Given the description of an element on the screen output the (x, y) to click on. 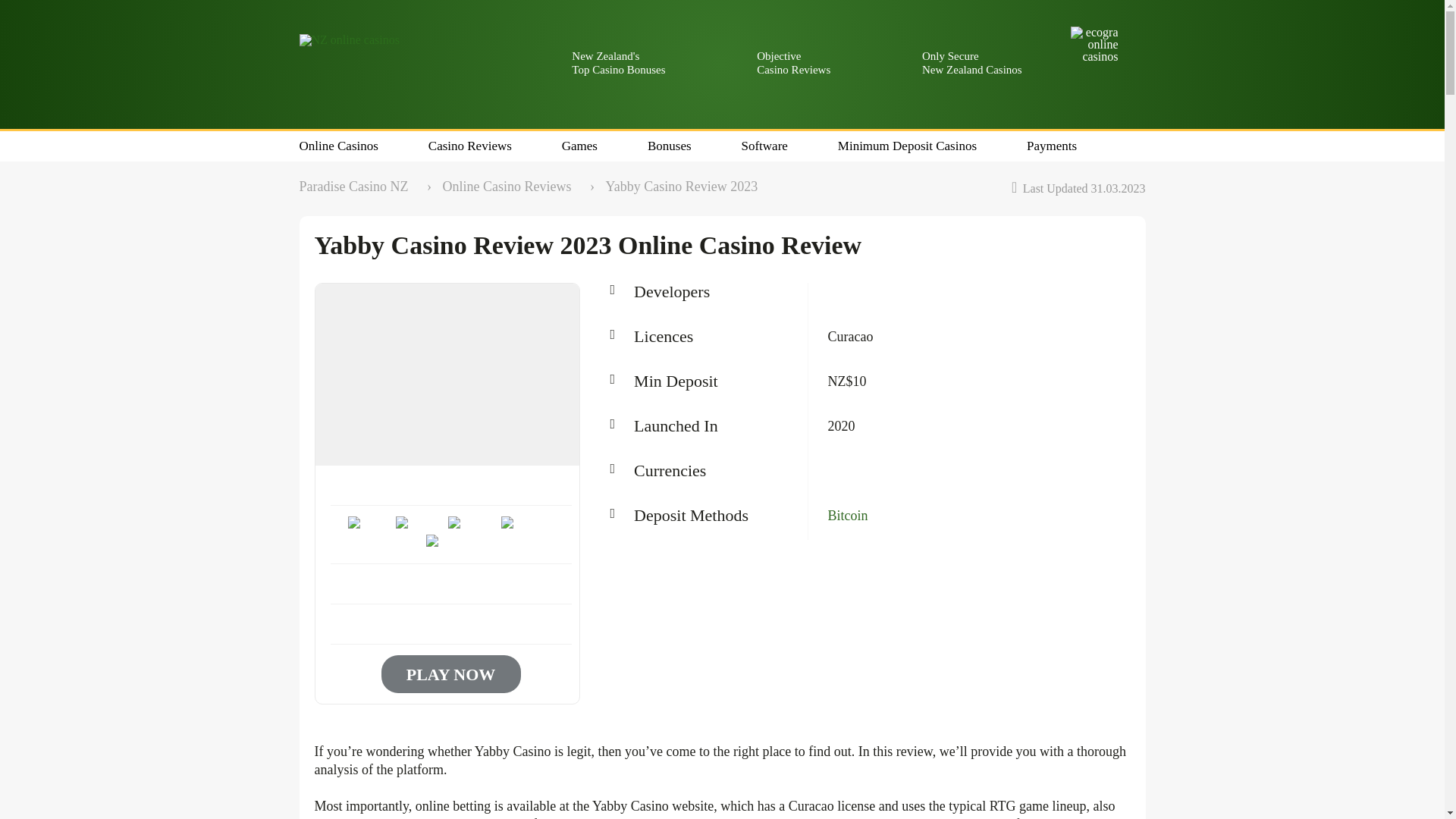
1 Star (370, 525)
Casino Reviews (470, 148)
Bonuses (669, 148)
5 Stars (451, 543)
4 Stars (525, 525)
Online Casinos (337, 148)
Games (579, 148)
3 Stars (472, 525)
Software (764, 148)
2 Stars (420, 525)
